Given the description of an element on the screen output the (x, y) to click on. 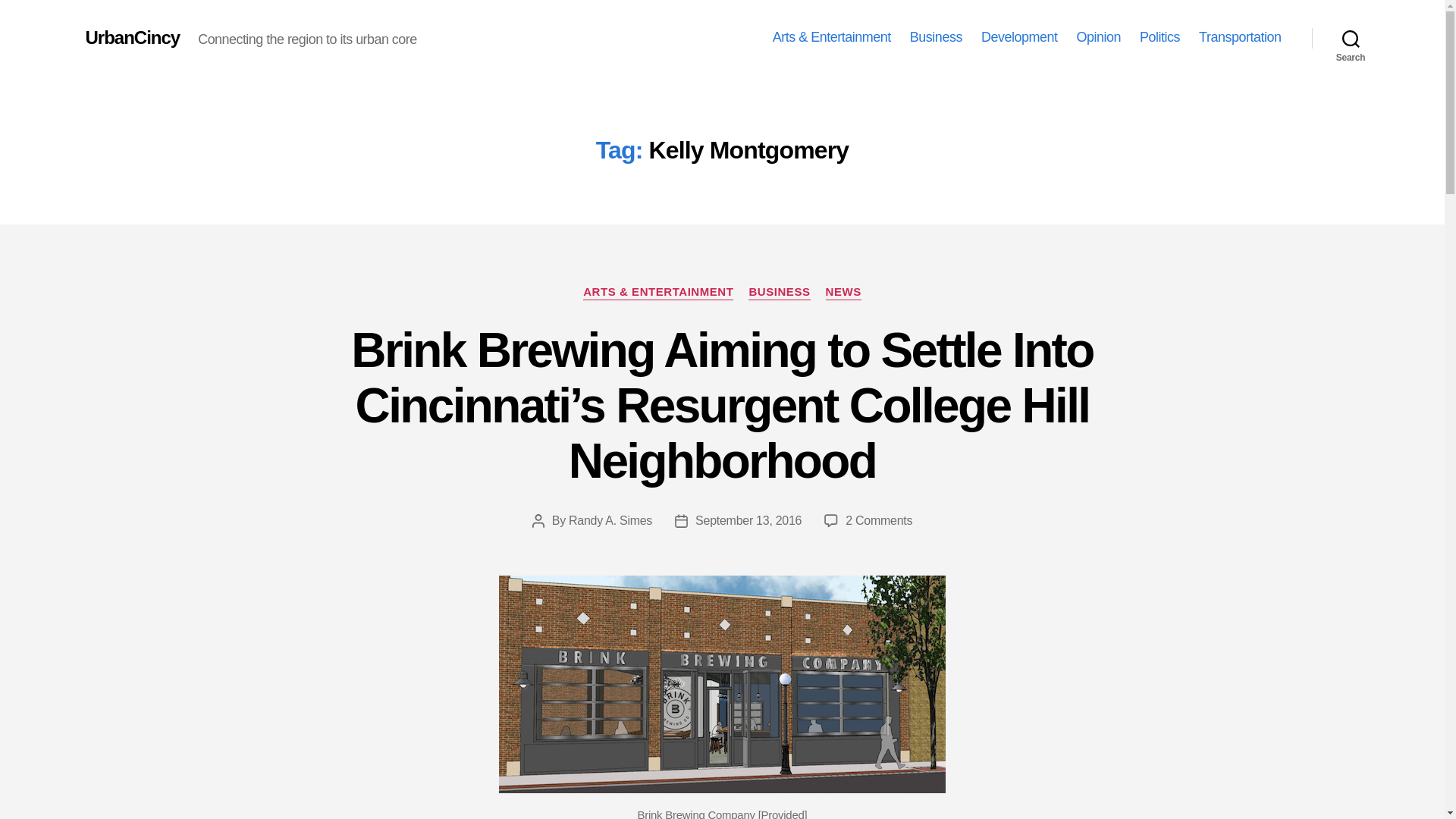
September 13, 2016 (748, 520)
BUSINESS (778, 292)
Transportation (1239, 37)
Opinion (1098, 37)
Search (1350, 37)
Business (936, 37)
Politics (1159, 37)
NEWS (843, 292)
UrbanCincy (131, 37)
Development (1019, 37)
Randy A. Simes (610, 520)
